Given the description of an element on the screen output the (x, y) to click on. 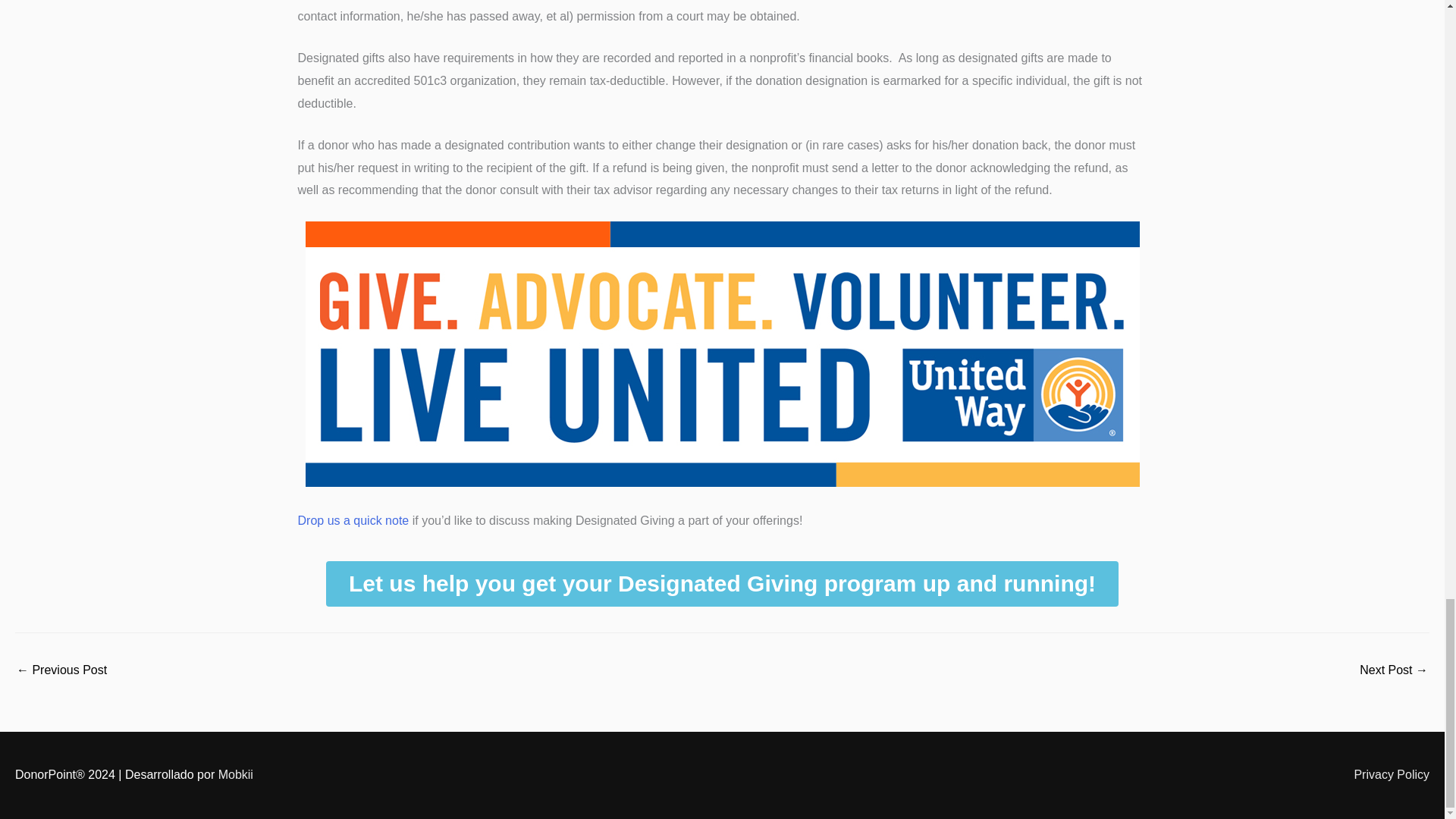
Privacy Policy (1384, 774)
Mobkii (235, 774)
Drop us a quick note (353, 520)
